Given the description of an element on the screen output the (x, y) to click on. 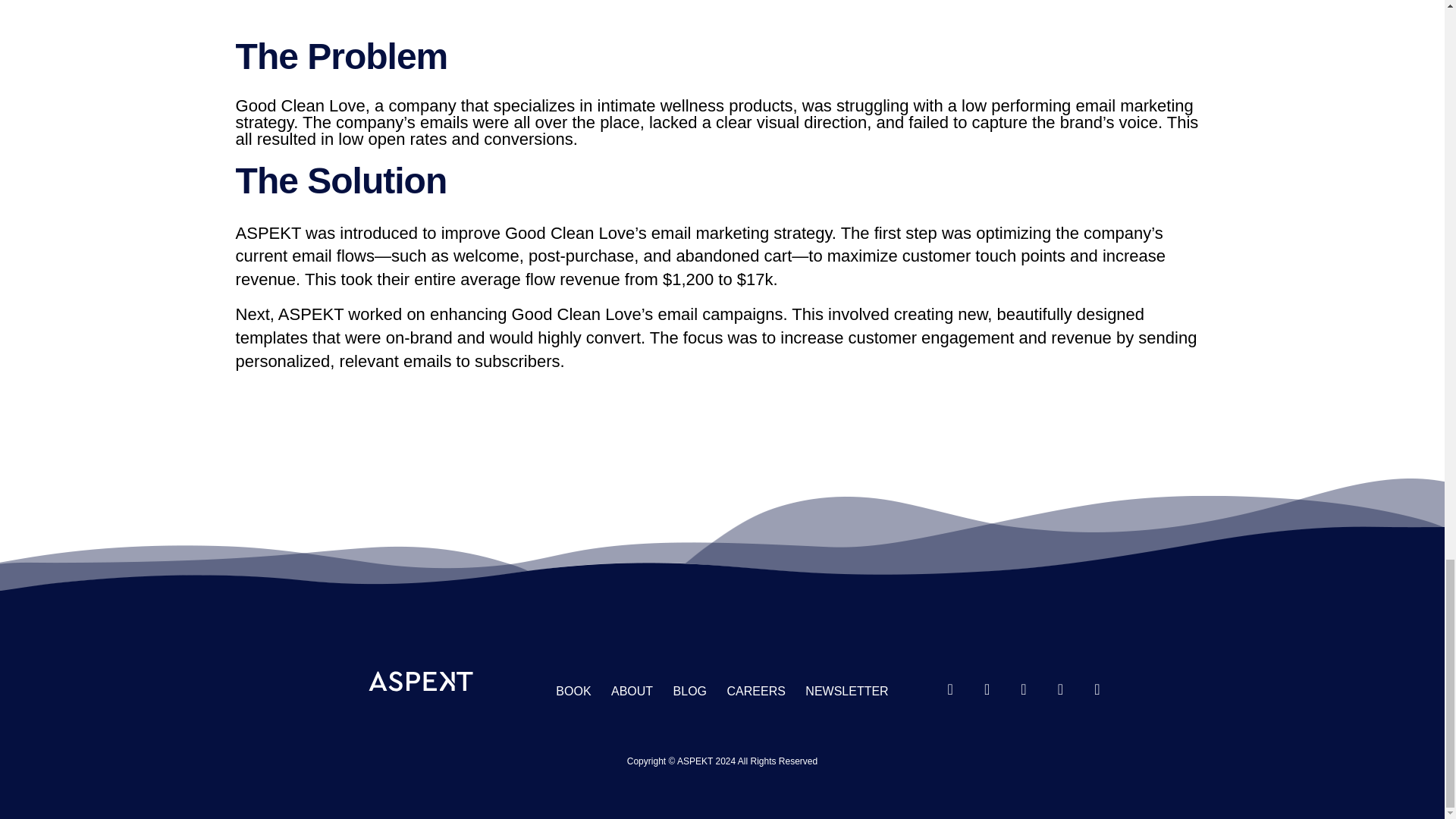
BOOK (573, 690)
BLOG (689, 690)
NEWSLETTER (846, 690)
CAREERS (756, 690)
ABOUT (631, 690)
